Given the description of an element on the screen output the (x, y) to click on. 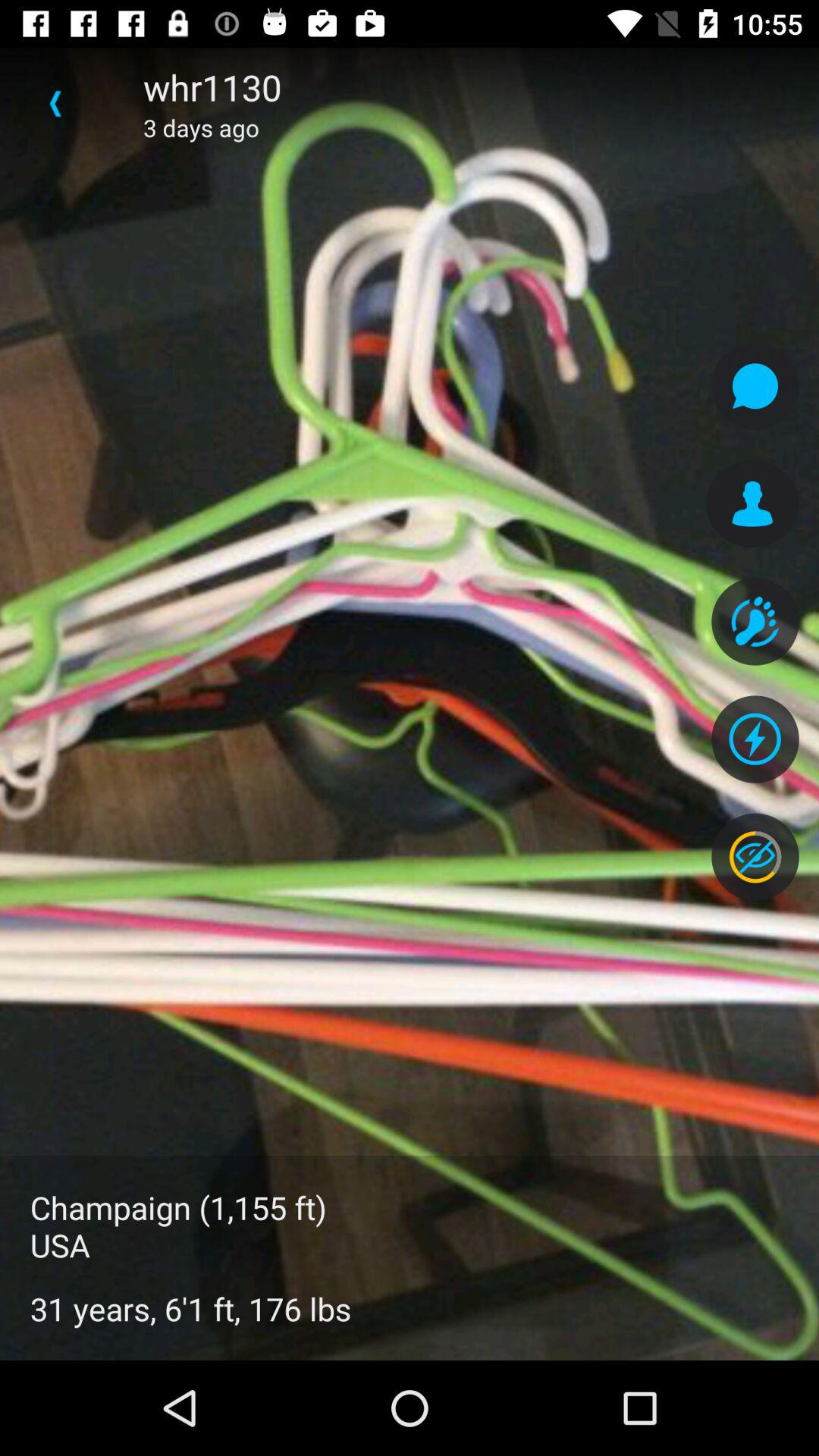
click icon next to whr1130 (55, 103)
